Given the description of an element on the screen output the (x, y) to click on. 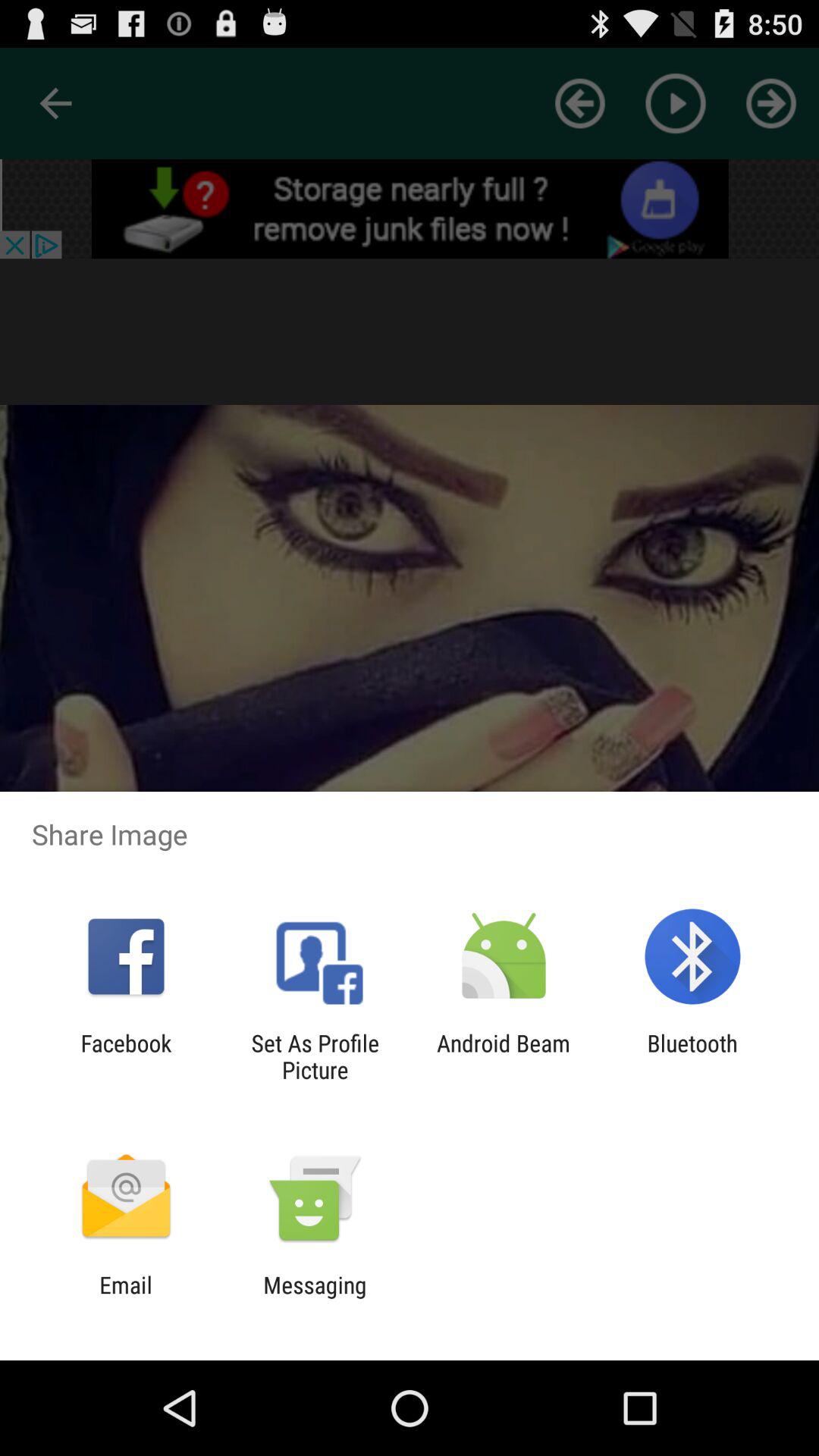
select android beam item (503, 1056)
